Given the description of an element on the screen output the (x, y) to click on. 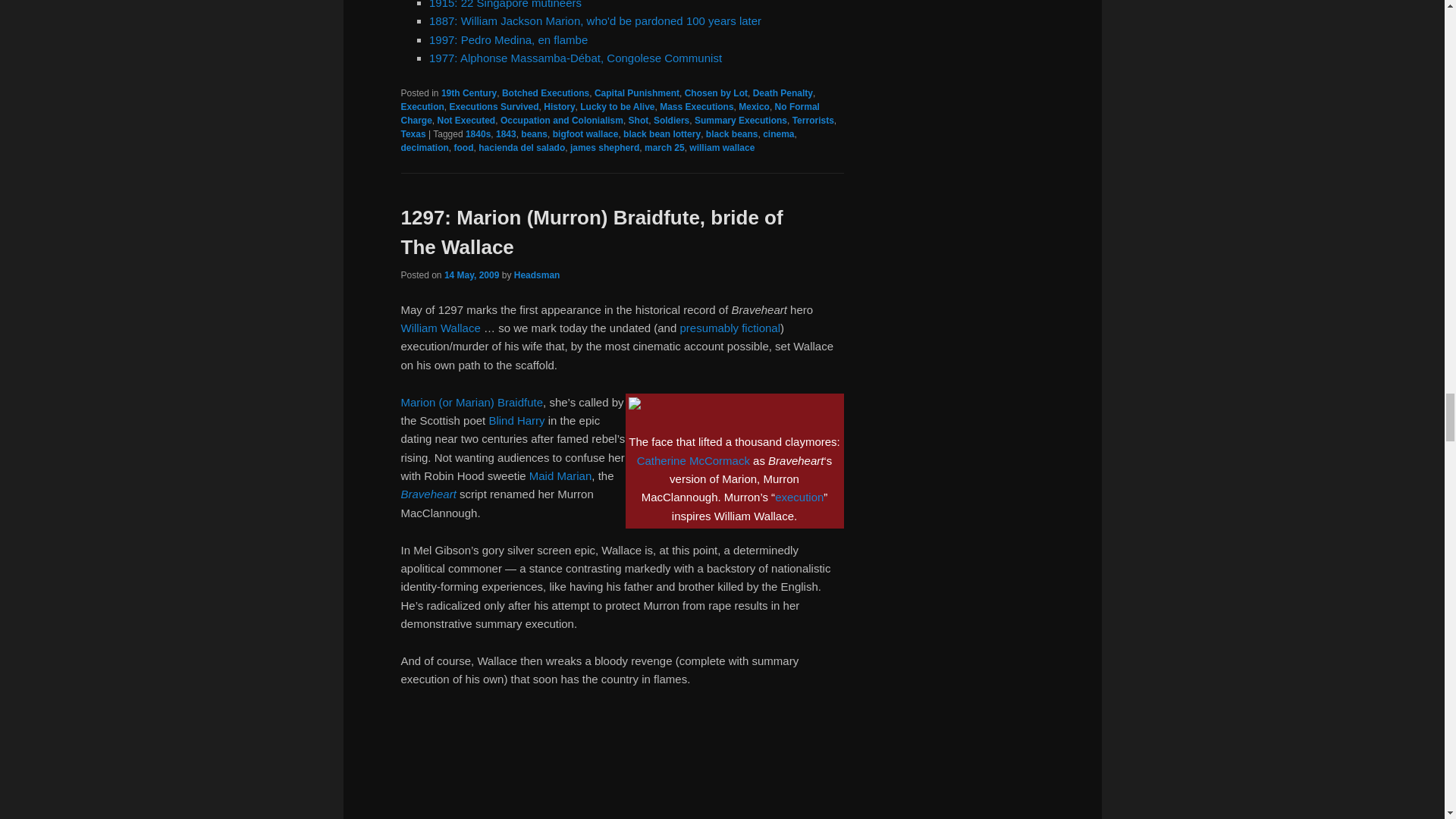
View all posts by Headsman (536, 275)
1:30 am (471, 275)
